Given the description of an element on the screen output the (x, y) to click on. 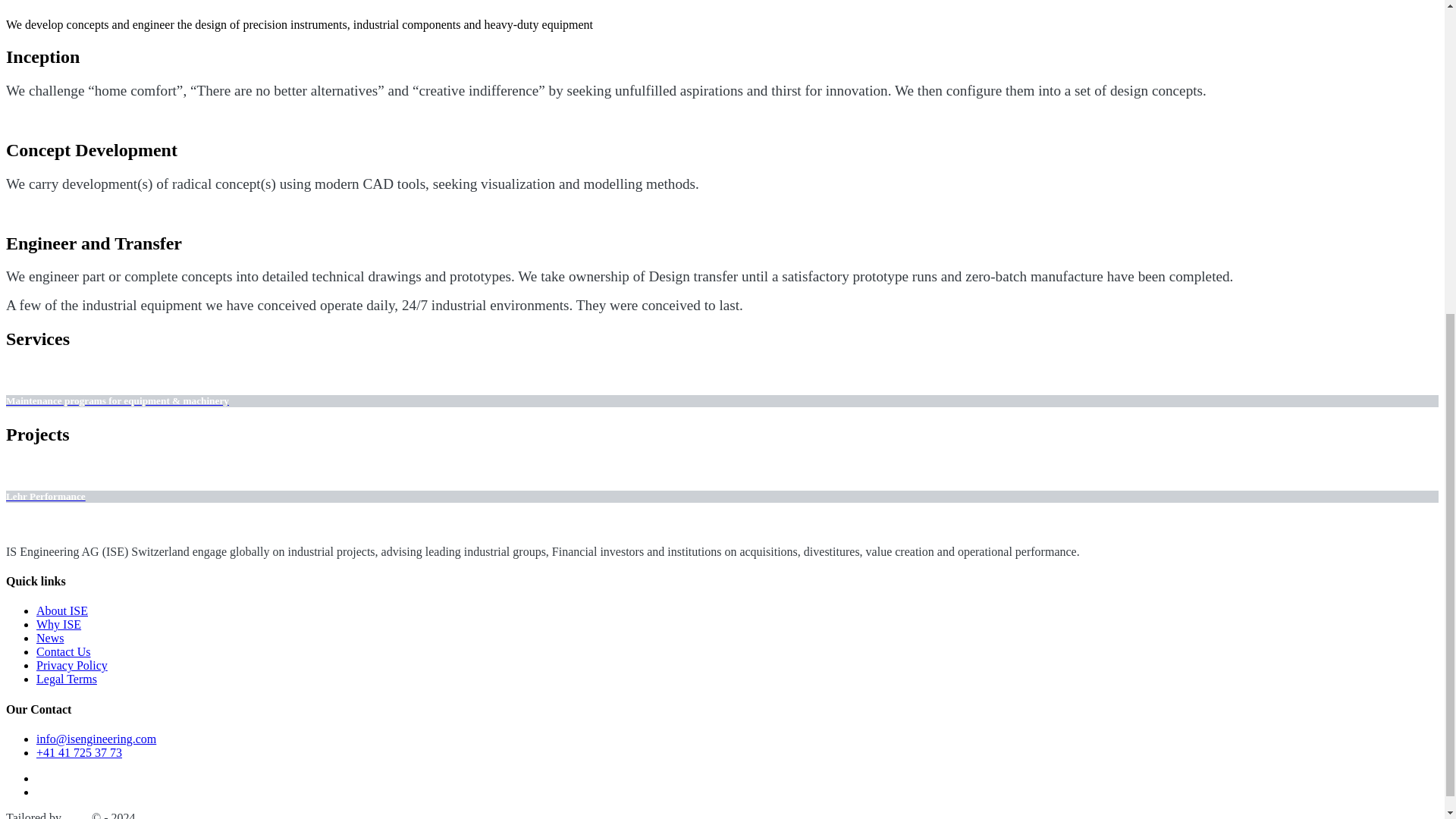
News (50, 637)
Contact Us (63, 651)
Why ISE (58, 624)
About ISE (61, 610)
Privacy Policy (71, 665)
Legal Terms (66, 678)
